Given the description of an element on the screen output the (x, y) to click on. 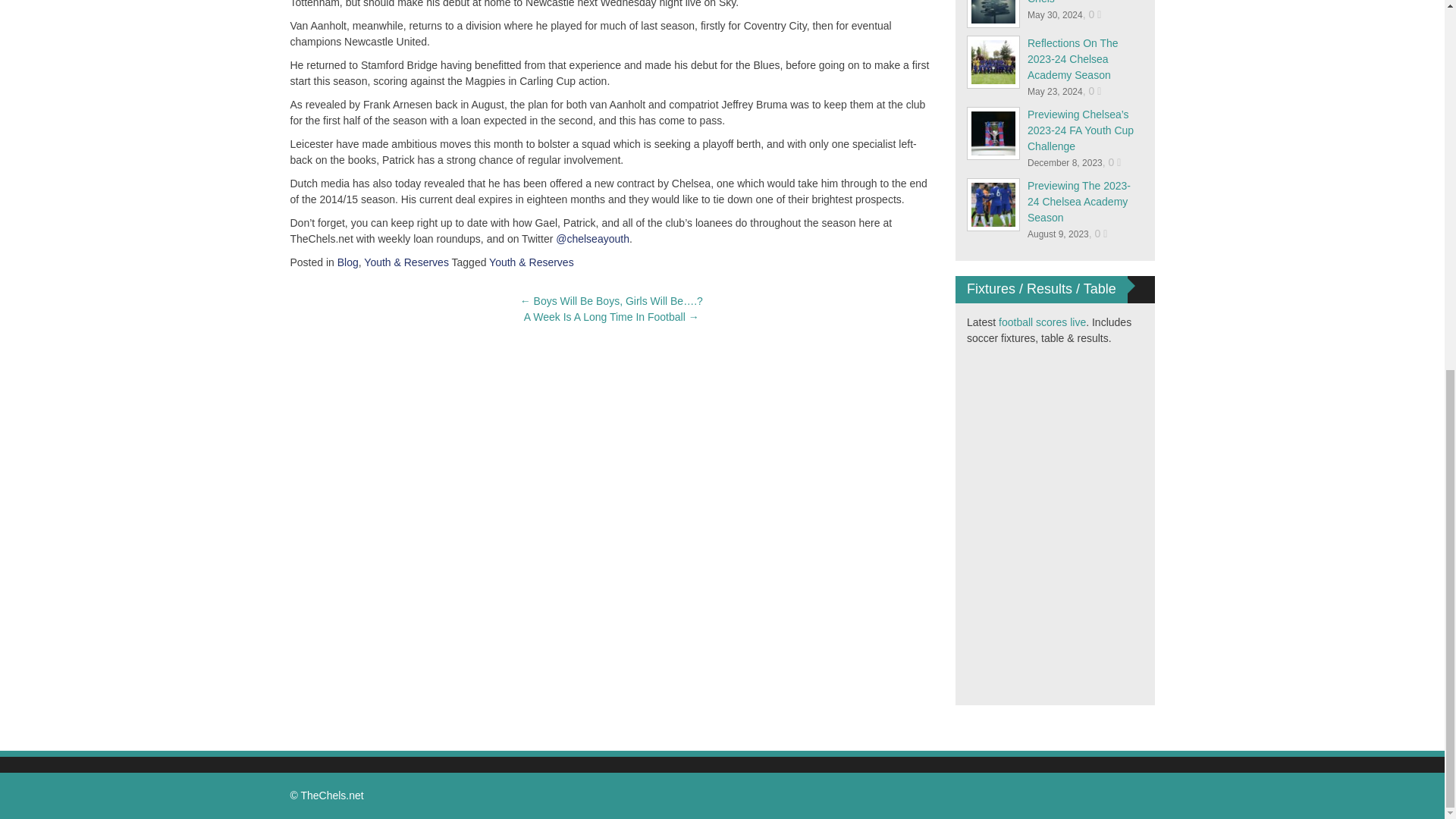
Reflections On The 2023-24 Chelsea Academy Season (1072, 58)
Blog (347, 262)
Everything But The Chels (1072, 2)
